Given the description of an element on the screen output the (x, y) to click on. 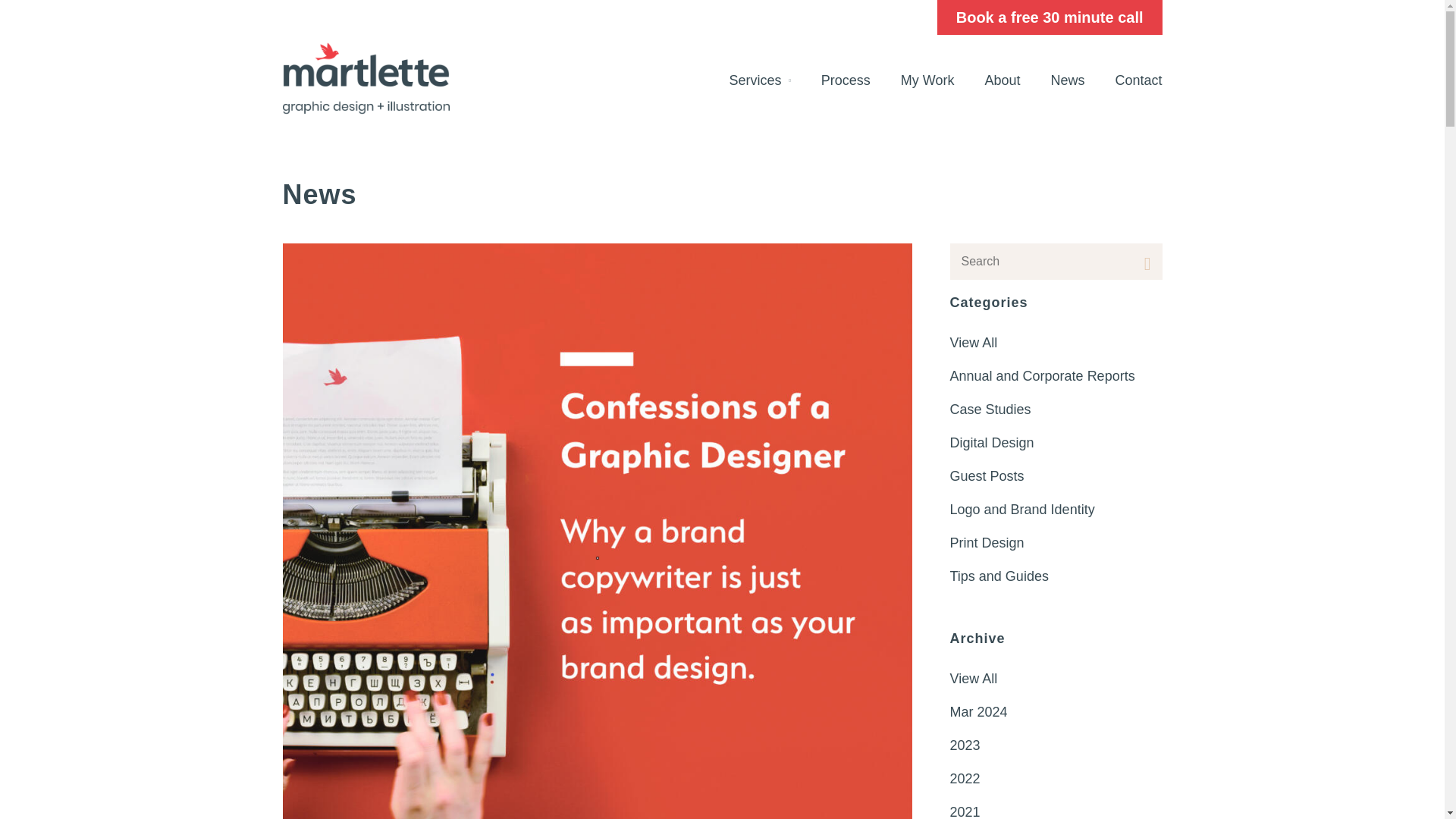
Process (845, 80)
Logo and Brand Identity (1055, 509)
My Work (927, 80)
2022 (1055, 778)
Case Studies (1055, 409)
View All (1055, 342)
2021 (1055, 807)
Annual and Corporate Reports (1055, 376)
About (1002, 80)
Print Design (1055, 542)
View All (1055, 678)
Guest Posts (1055, 476)
Services (759, 80)
Book a free 30 minute call (1049, 17)
Tips and Guides (1055, 575)
